Given the description of an element on the screen output the (x, y) to click on. 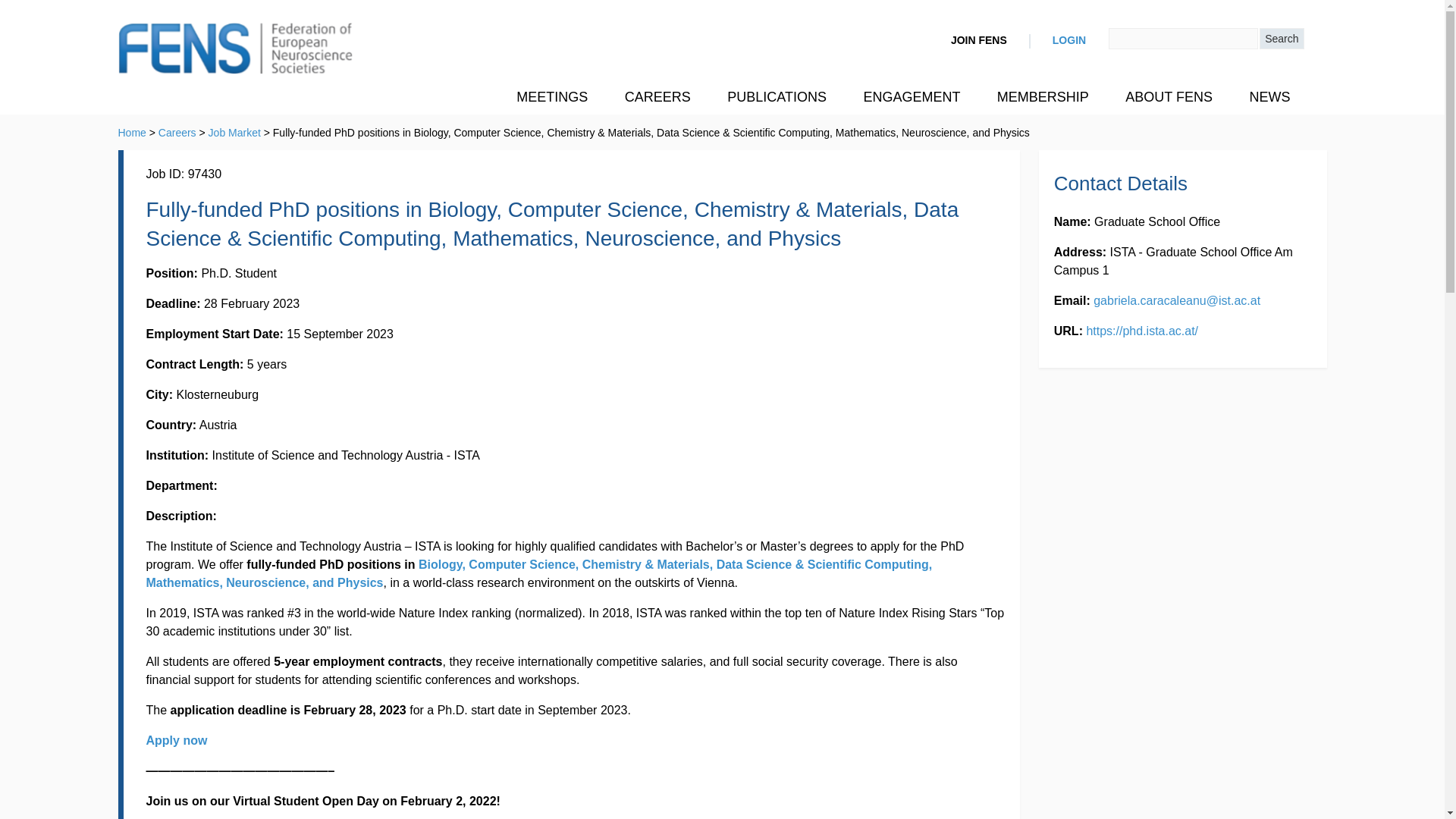
Federation of European Neuroscience Societies (234, 49)
Search (1281, 38)
CAREERS (657, 97)
JOIN FENS (978, 41)
Federation of European Neuroscience Societies (234, 49)
Go to Careers. (177, 132)
Go to Federation of European Neuroscience Societies. (132, 132)
PUBLICATIONS (776, 97)
Go to Job Market. (234, 132)
Search (1281, 38)
MEETINGS (551, 97)
LOGIN (1069, 41)
